Given the description of an element on the screen output the (x, y) to click on. 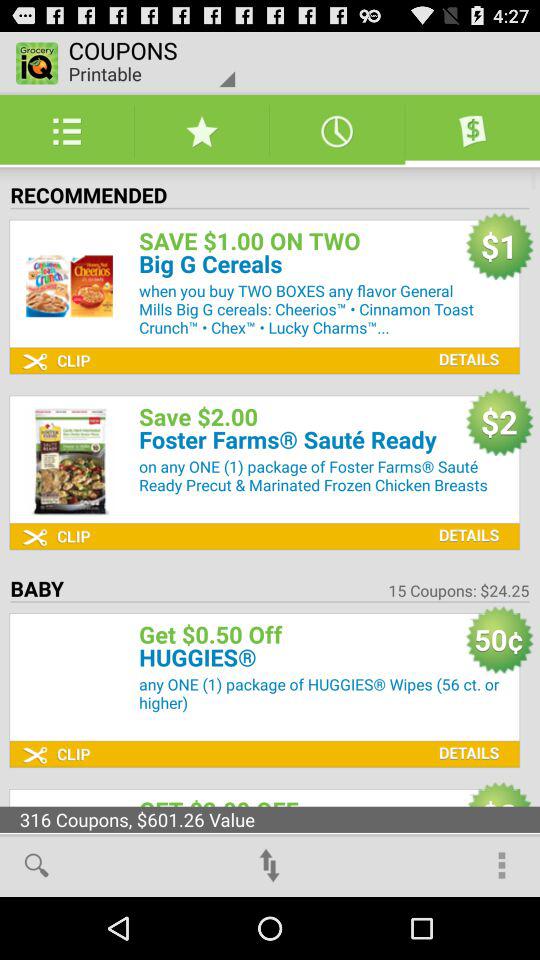
promotion details (464, 343)
